Given the description of an element on the screen output the (x, y) to click on. 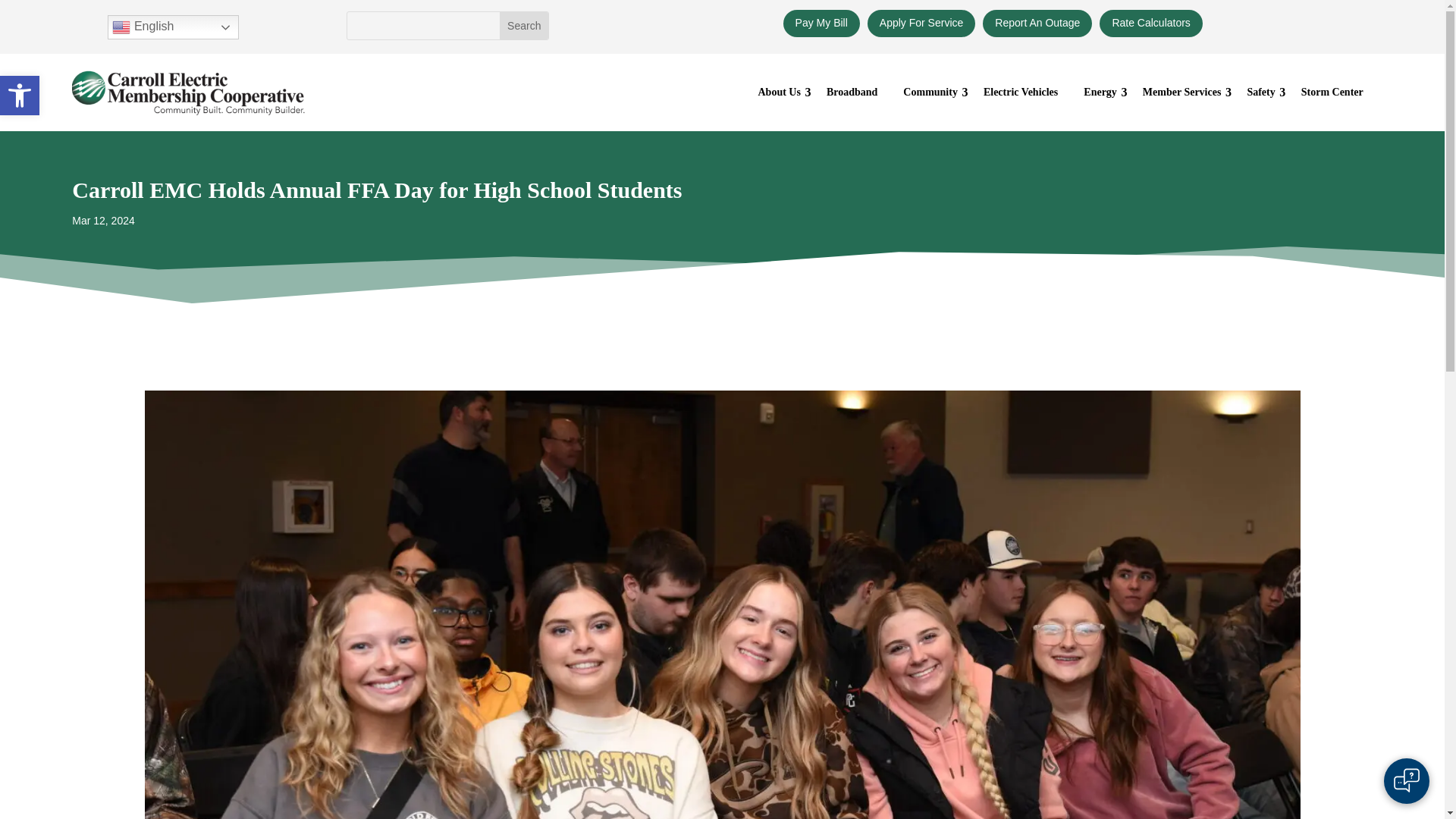
Accessibility Tools (19, 95)
Search (523, 25)
Search (523, 25)
Accessibility Tools (19, 95)
Search (523, 25)
English (172, 27)
Apply For Service (921, 22)
Report An Outage (1037, 22)
Rate Calculators (1150, 22)
Pay My Bill (821, 22)
